Given the description of an element on the screen output the (x, y) to click on. 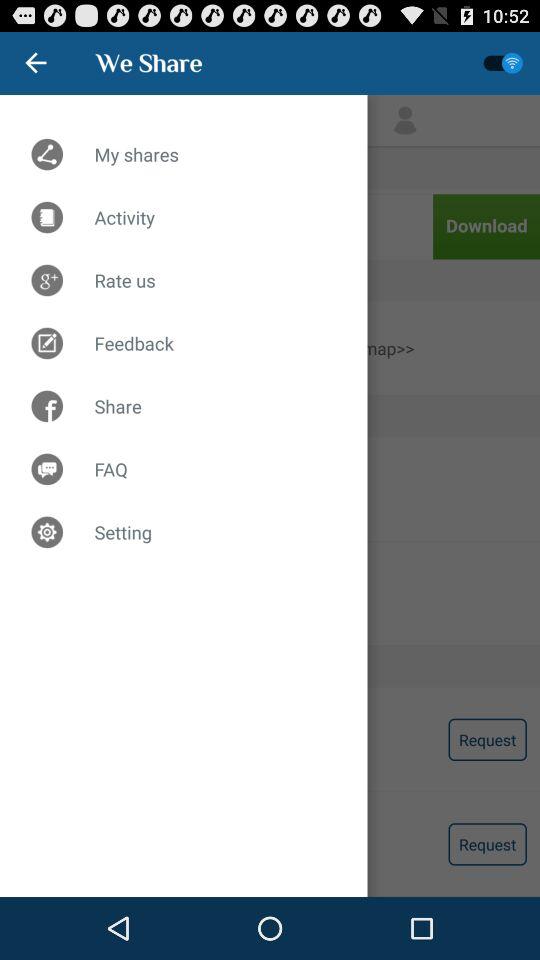
click on the second request button (487, 843)
click on the switch button (503, 63)
select the share above my shares (149, 62)
